Given the description of an element on the screen output the (x, y) to click on. 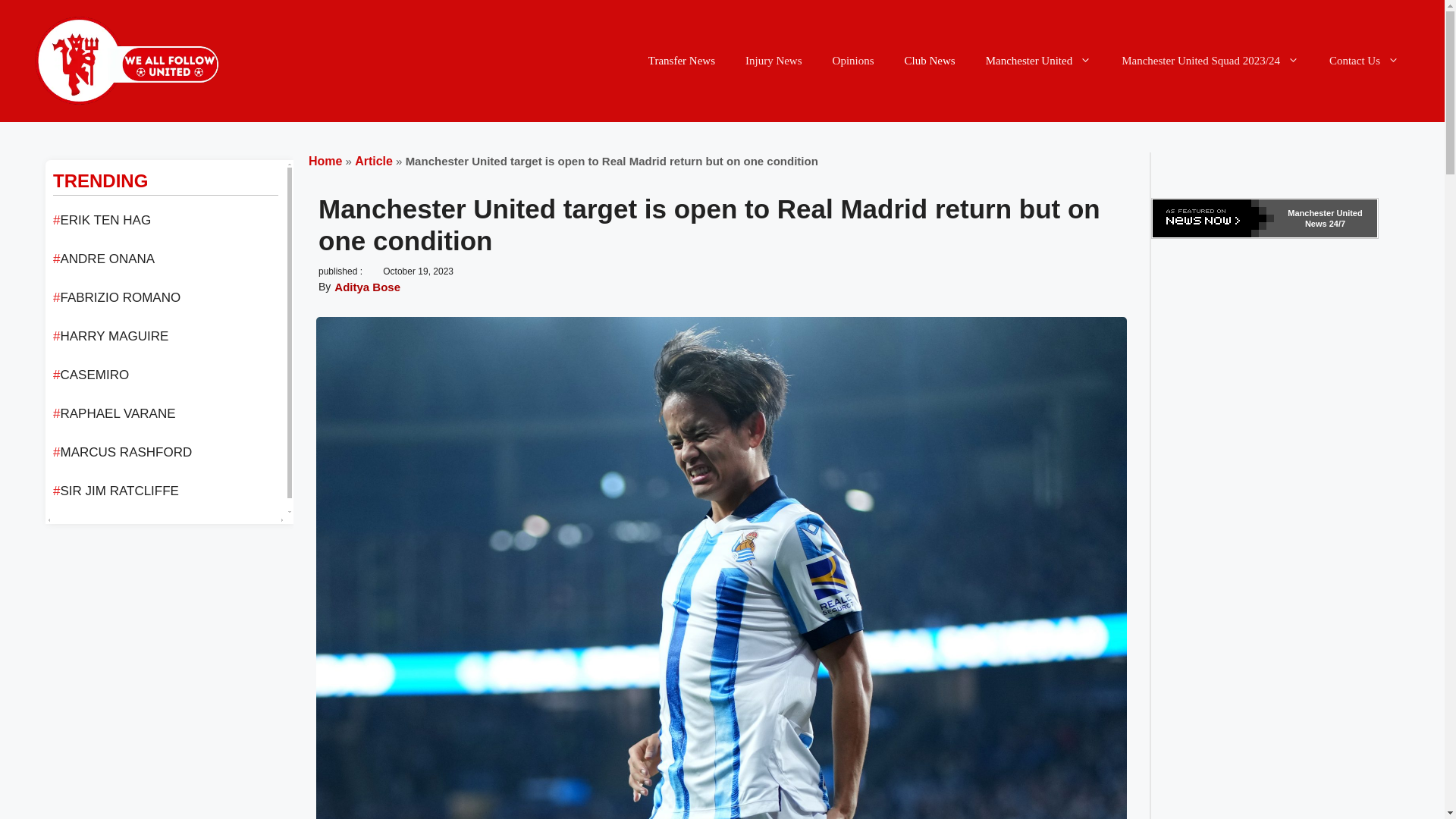
Club News (930, 60)
Transfer News (681, 60)
Injury News (773, 60)
Click here for more Manchester United news from NewsNow (1264, 218)
Opinions (852, 60)
Manchester United (1038, 60)
